Given the description of an element on the screen output the (x, y) to click on. 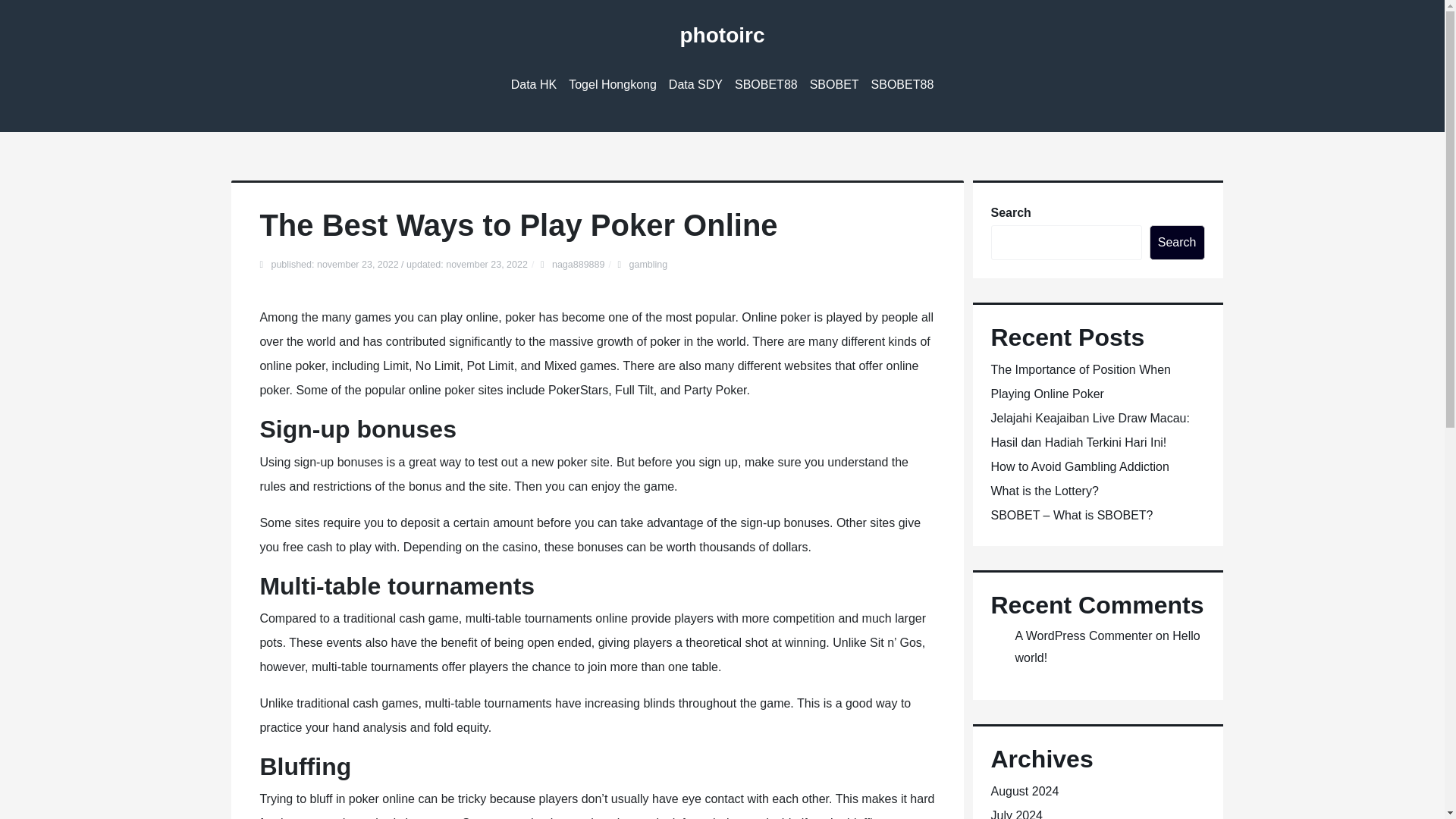
SBOBET88 (766, 84)
Data SDY (695, 84)
Data HK (533, 84)
SBOBET88 (766, 84)
July 2024 (1016, 814)
photoirc (721, 34)
How to Avoid Gambling Addiction (1079, 466)
A WordPress Commenter (1082, 635)
What is the Lottery? (1043, 490)
Search (1177, 242)
